Given the description of an element on the screen output the (x, y) to click on. 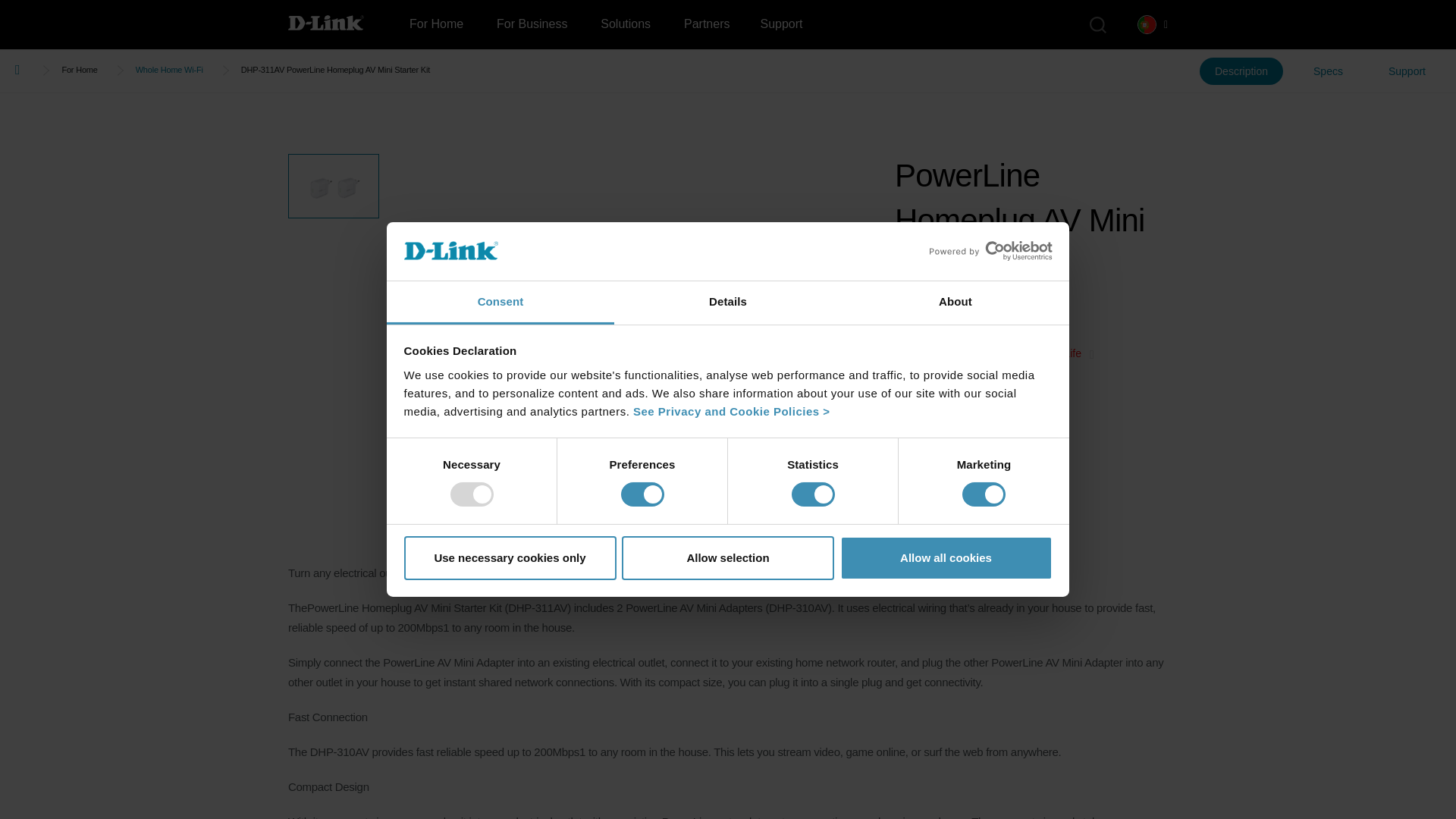
Details (727, 302)
Consent (500, 302)
About (954, 302)
Learn more about eu.dlink.com cookies (731, 410)
